Given the description of an element on the screen output the (x, y) to click on. 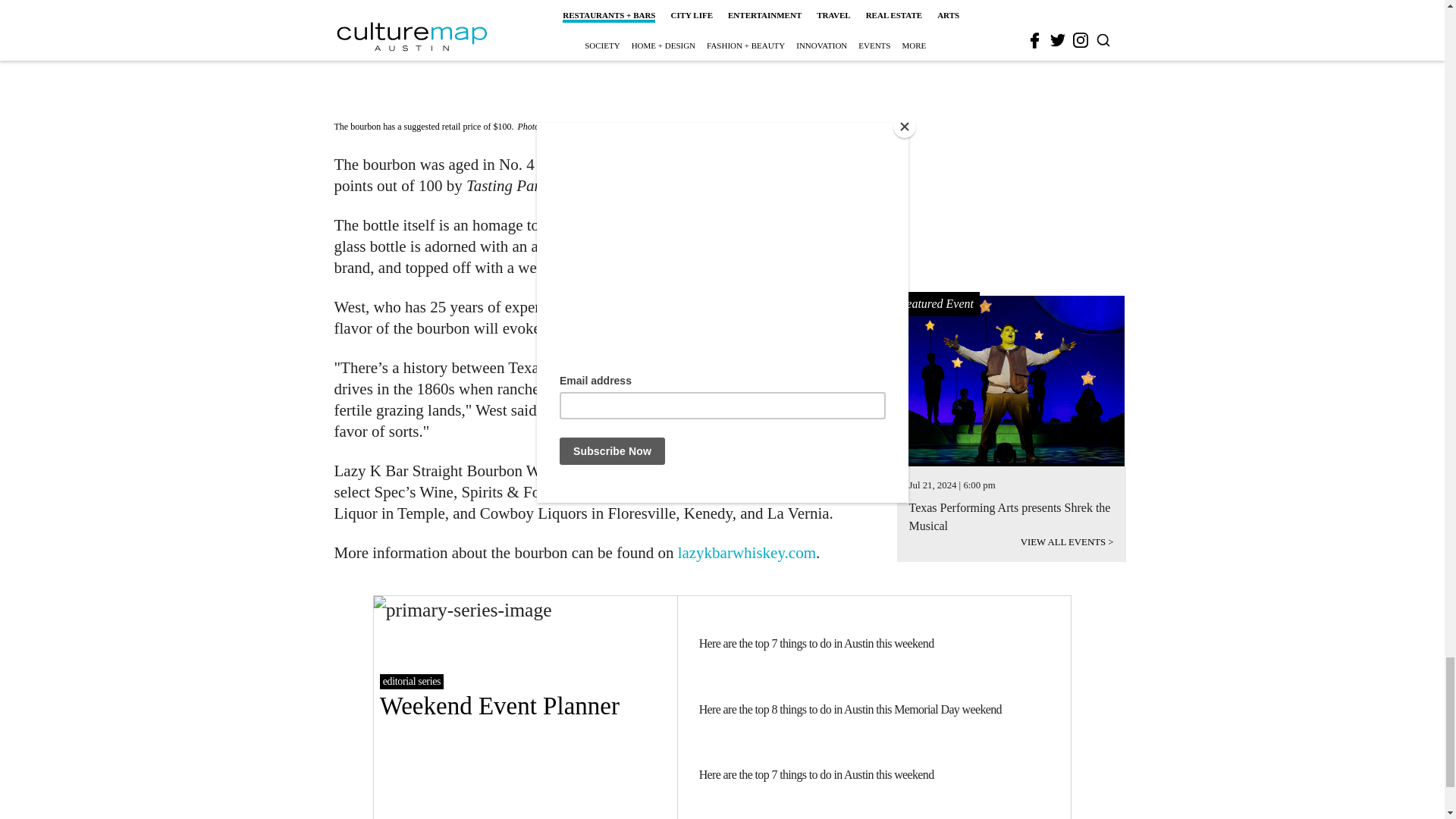
primary-link (525, 707)
